Given the description of an element on the screen output the (x, y) to click on. 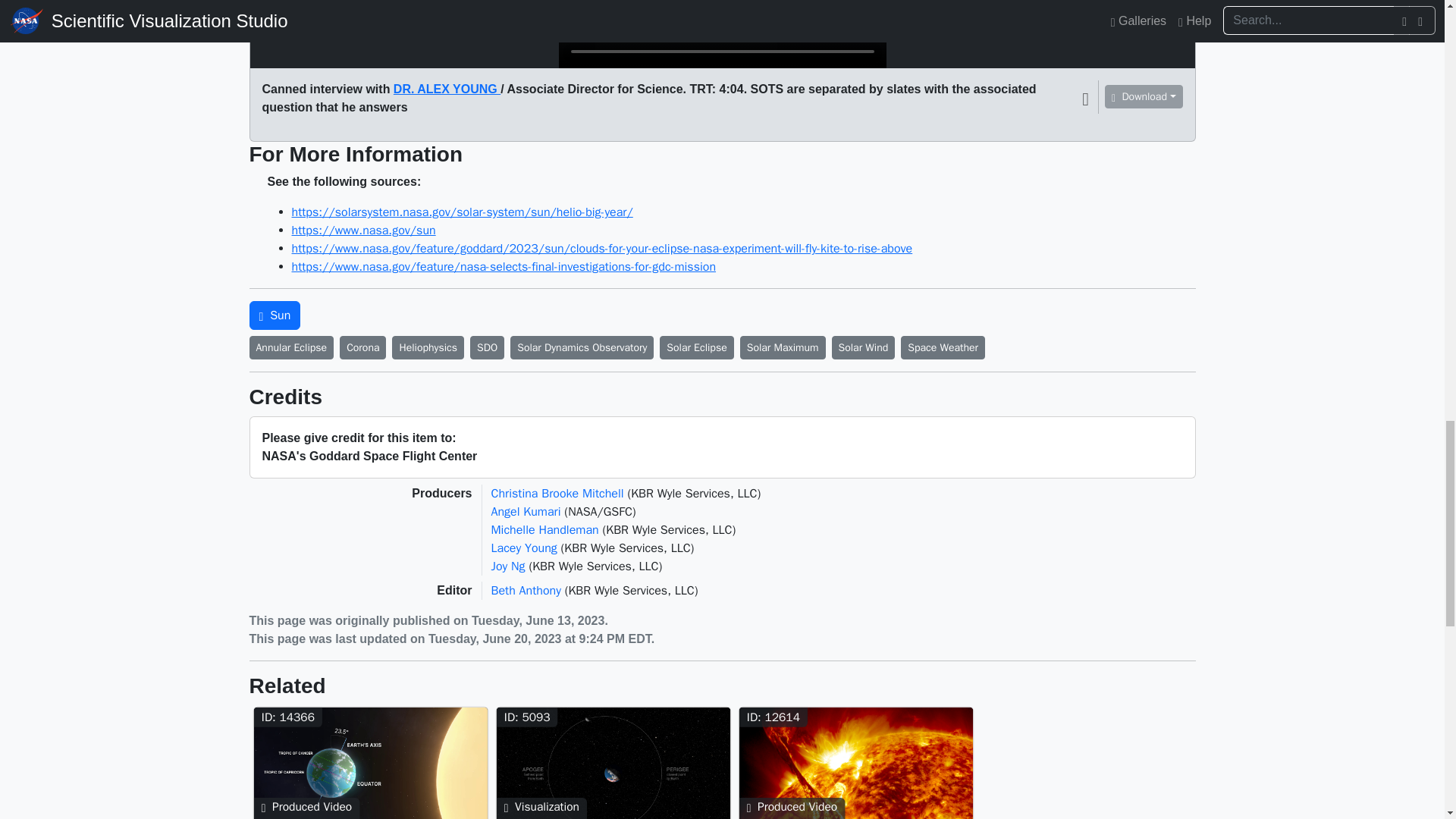
Download (1143, 96)
Go to this page (616, 763)
Go to this page (858, 763)
Go to this page (374, 763)
